Given the description of an element on the screen output the (x, y) to click on. 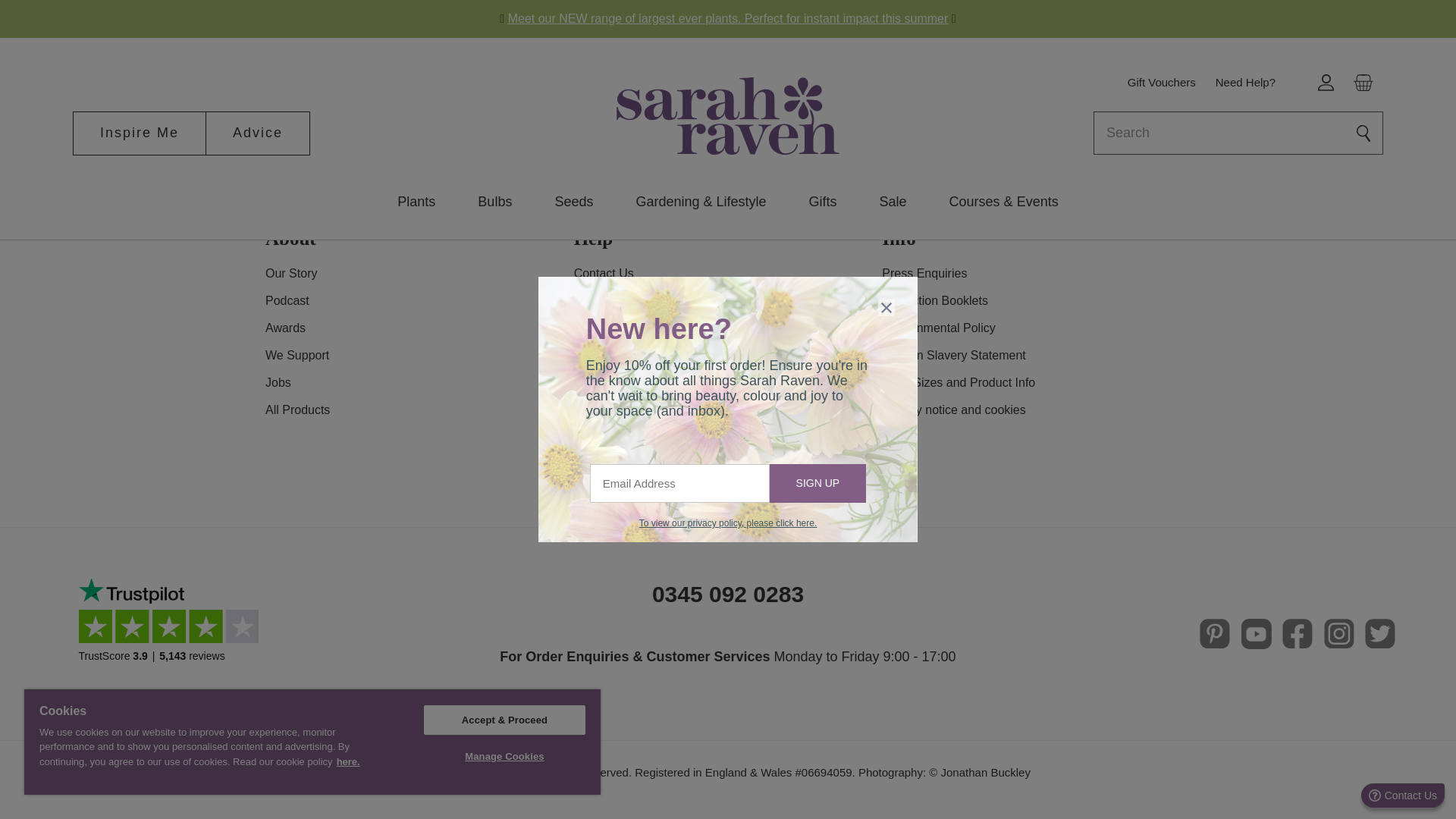
Customer reviews powered by Trustpilot (174, 634)
